Given the description of an element on the screen output the (x, y) to click on. 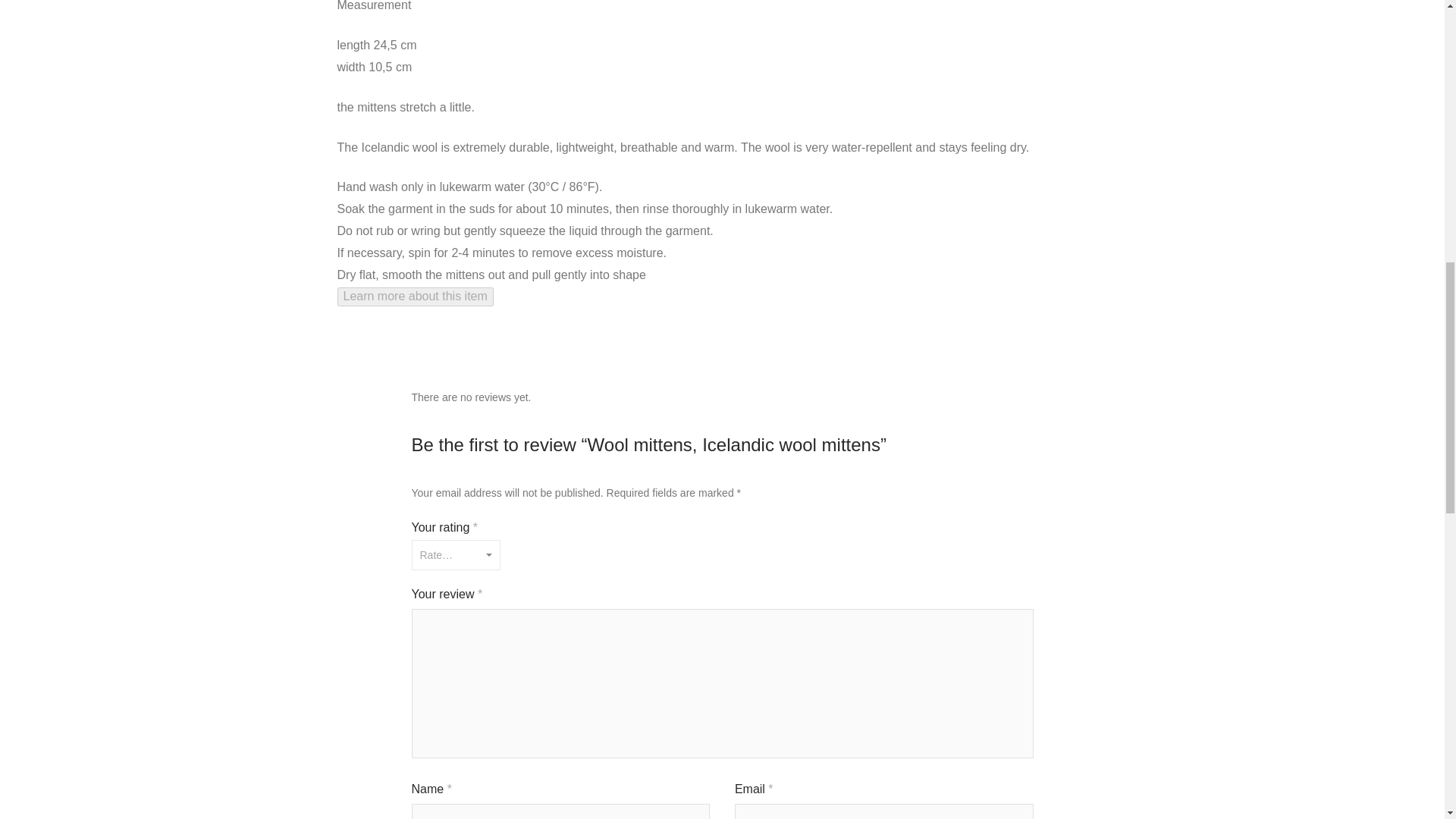
Learn more about this item (414, 296)
